Given the description of an element on the screen output the (x, y) to click on. 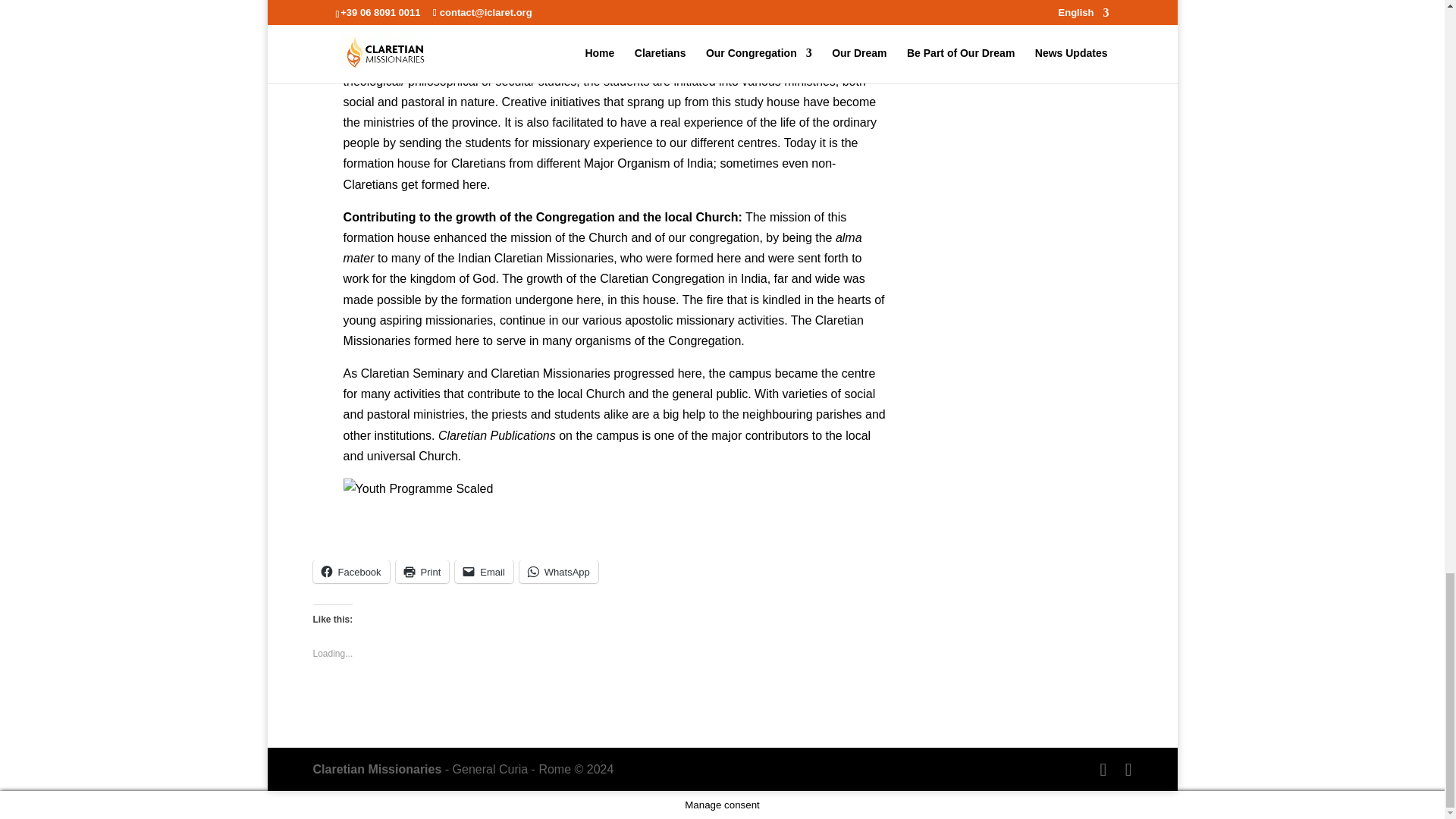
Print (422, 571)
Email (483, 571)
WhatsApp (558, 571)
Facebook (350, 571)
